Given the description of an element on the screen output the (x, y) to click on. 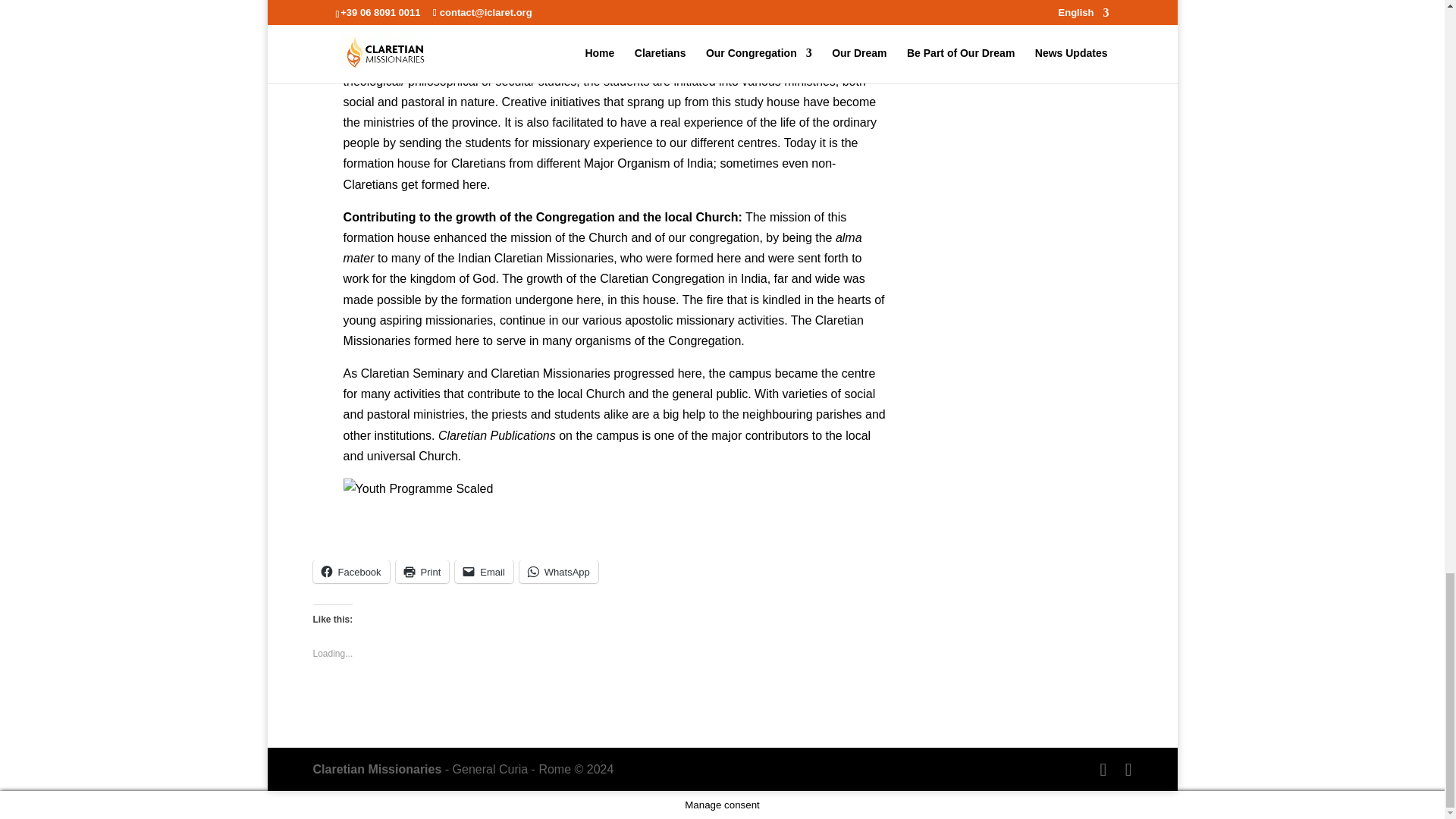
Print (422, 571)
Email (483, 571)
WhatsApp (558, 571)
Facebook (350, 571)
